Given the description of an element on the screen output the (x, y) to click on. 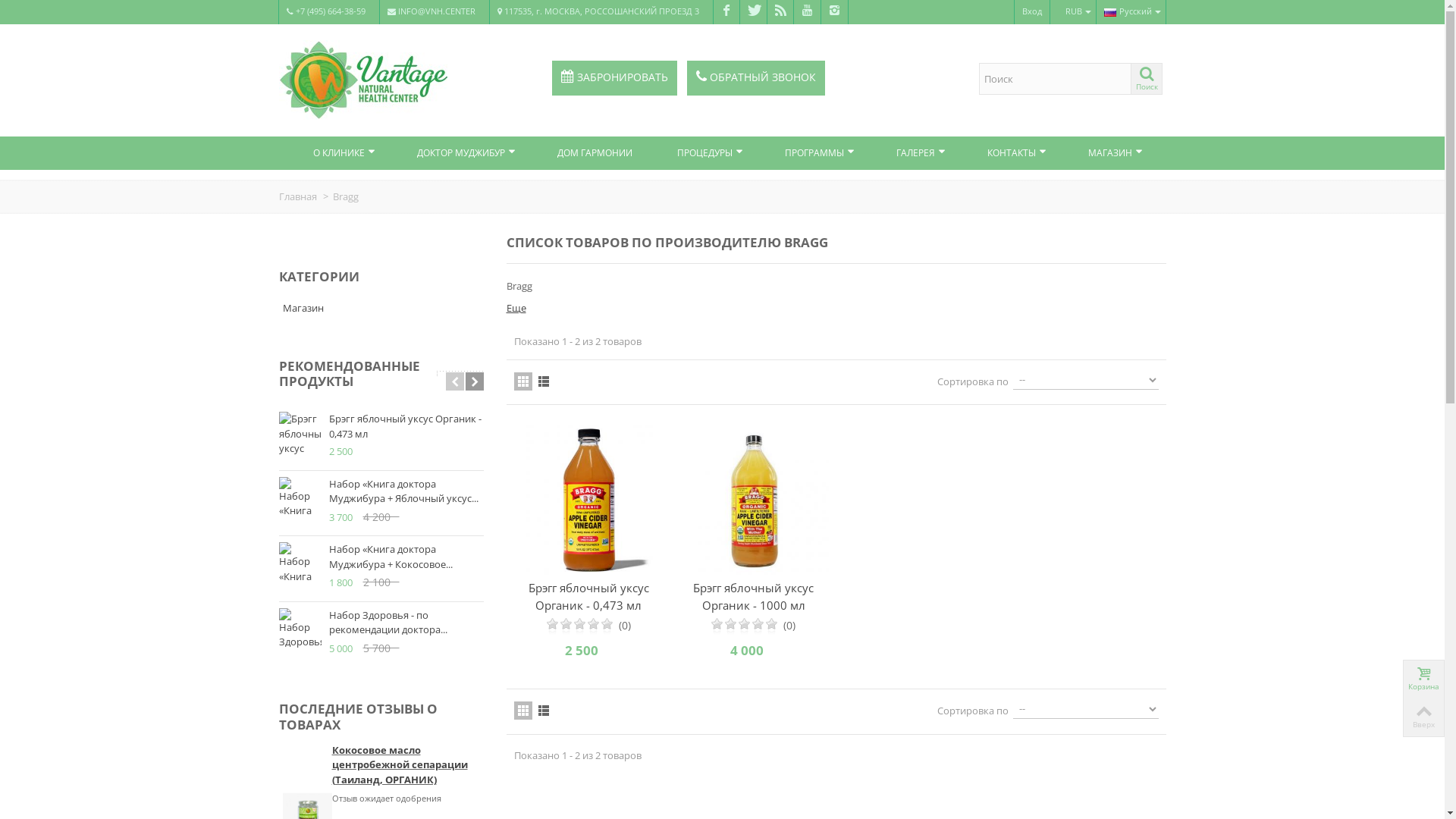
INFO@VNH.CENTER Element type: text (434, 12)
Facebook Element type: hover (726, 12)
RSS Element type: hover (780, 12)
+7 (495) 664-38-59 Element type: text (328, 12)
Instagram Element type: hover (834, 12)
Youtube Element type: hover (807, 12)
Vantage Natural Health Center Element type: hover (363, 78)
Twitter Element type: hover (753, 12)
